Given the description of an element on the screen output the (x, y) to click on. 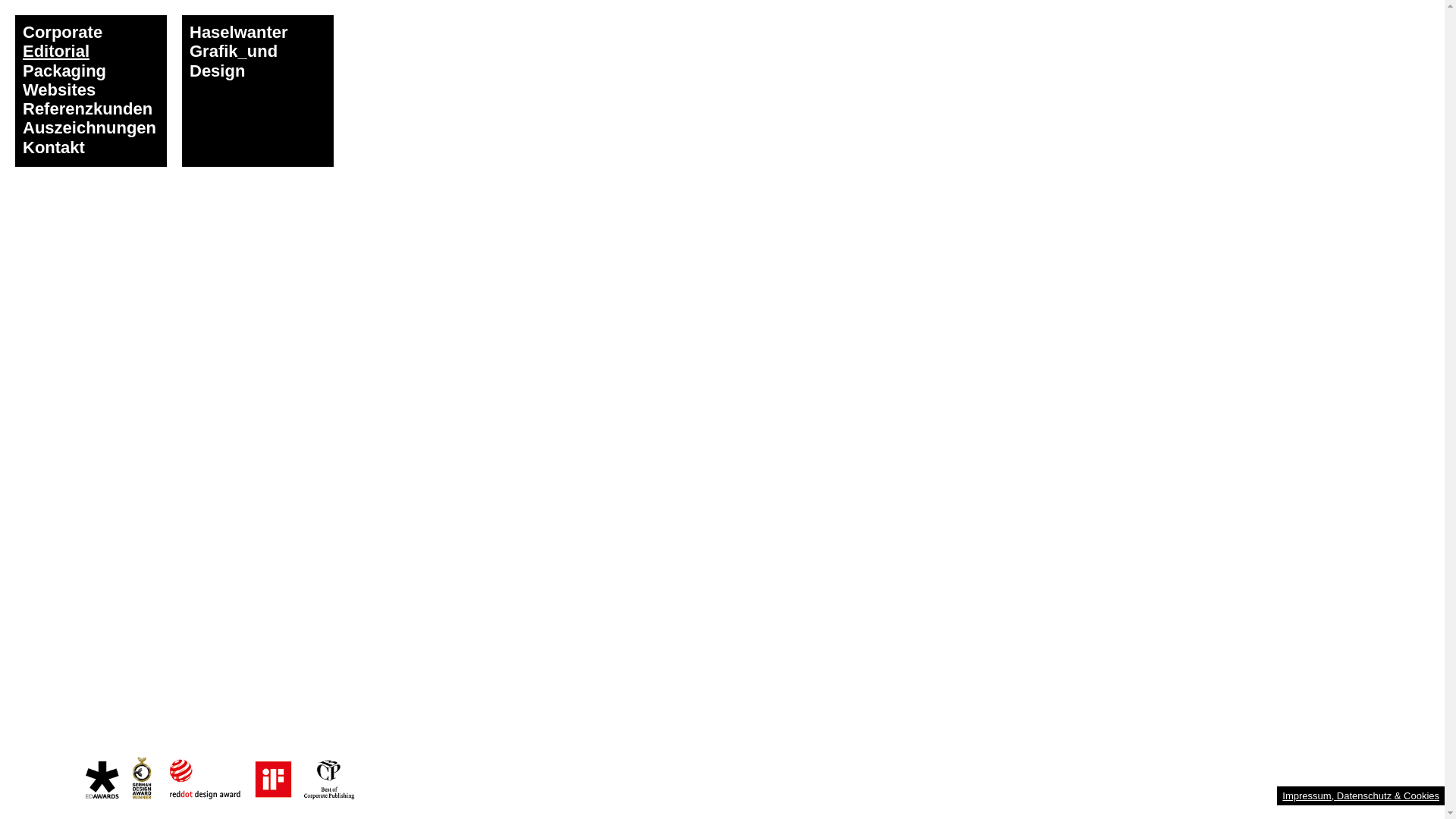
Kontakt Element type: text (53, 147)
Impressum, Datenschutz & Cookies Element type: text (1360, 795)
Auszeichnungen Element type: text (89, 127)
Editorial Element type: text (55, 50)
Packaging Element type: text (64, 70)
Websites Element type: text (58, 89)
Referenzkunden Element type: text (87, 108)
Corporate Element type: text (62, 31)
communication desing awards Element type: hover (219, 778)
Haselwanter
Grafik_und Design Element type: text (257, 90)
